Given the description of an element on the screen output the (x, y) to click on. 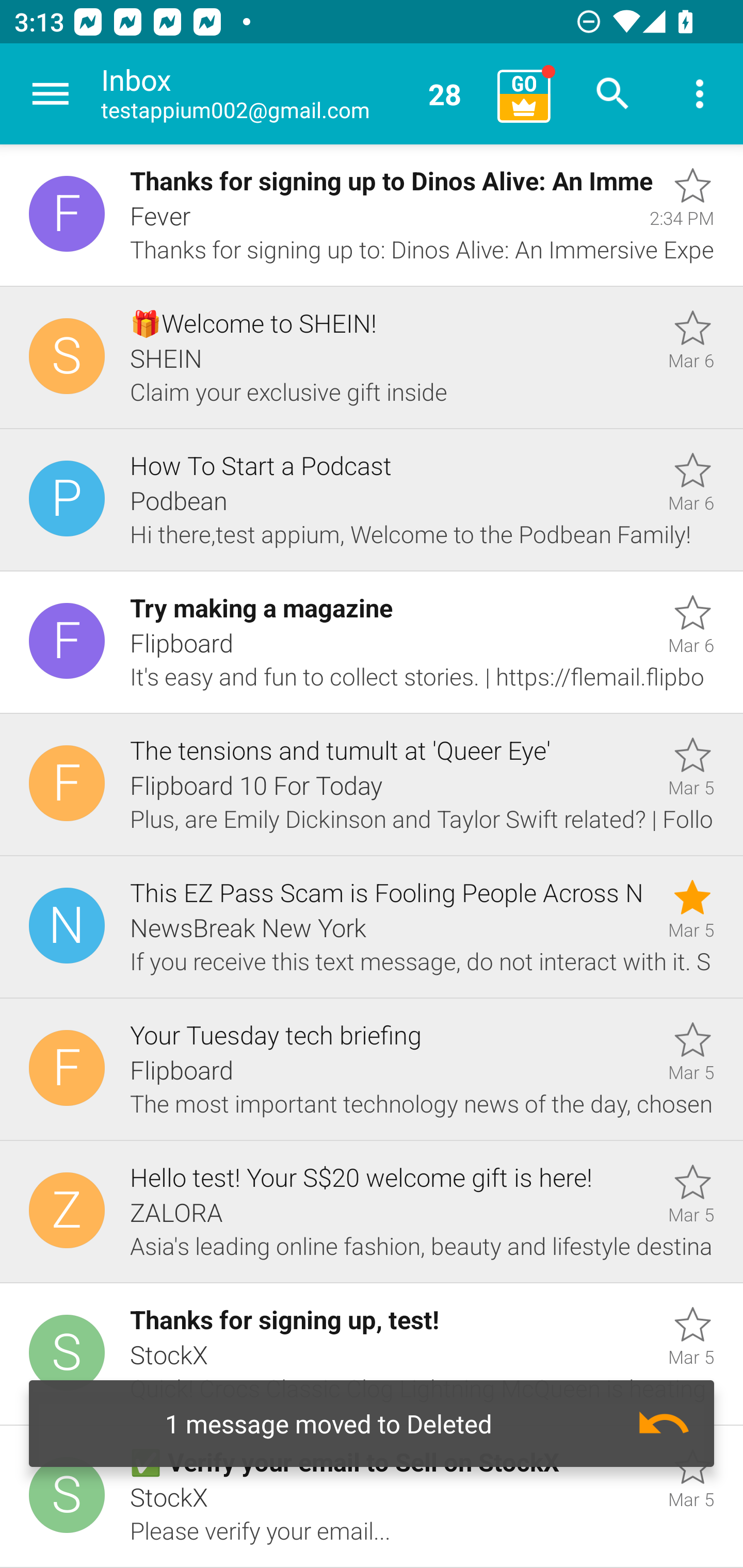
Navigate up (50, 93)
Inbox testappium002@gmail.com 28 (291, 93)
Search (612, 93)
More options (699, 93)
Undo 1 message moved to Deleted (371, 1423)
